Given the description of an element on the screen output the (x, y) to click on. 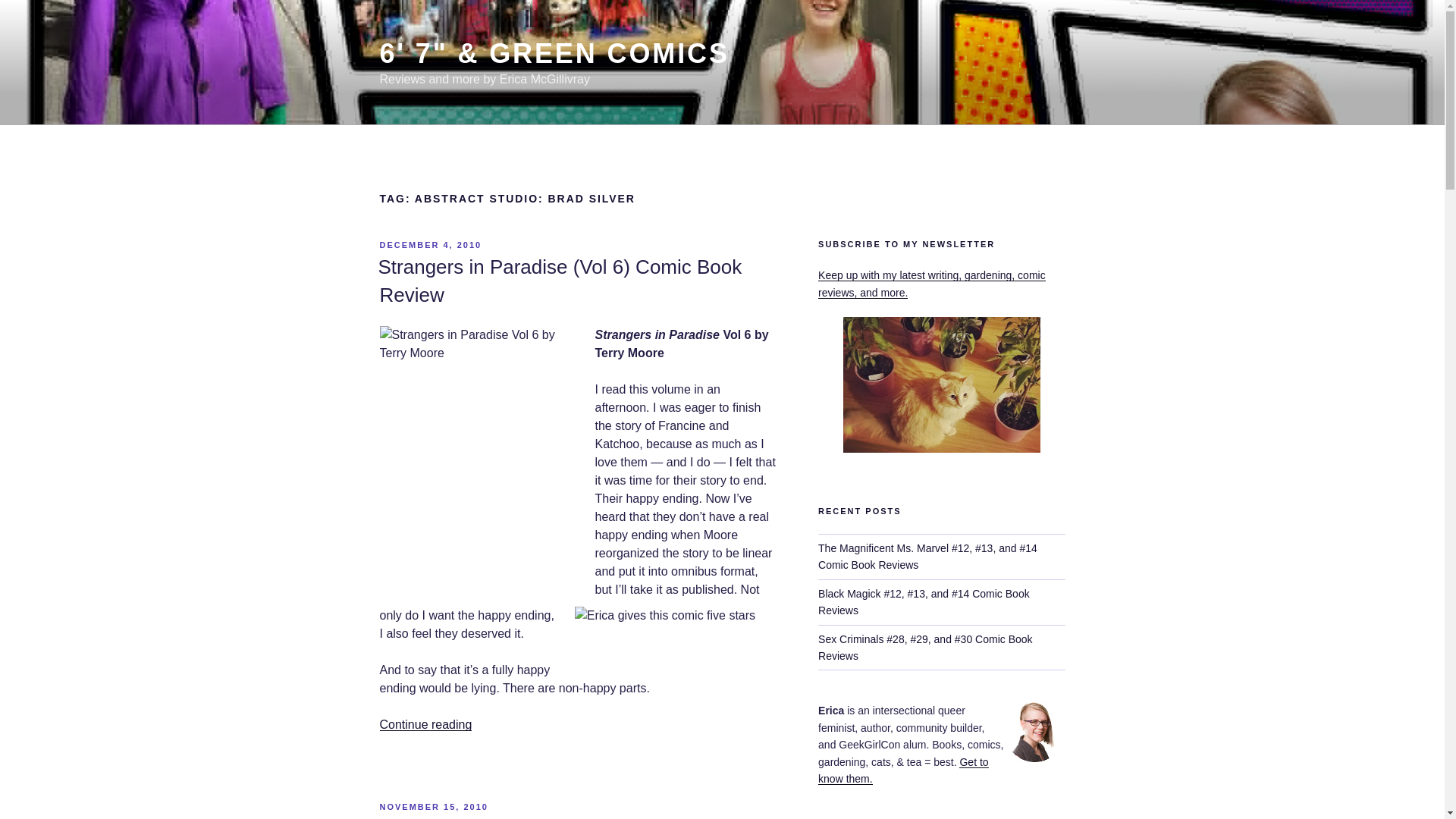
fivestar (676, 636)
strangers-in-paradise-vol-6 (477, 465)
DECEMBER 4, 2010 (429, 244)
Get to know them. (903, 769)
NOVEMBER 15, 2010 (432, 806)
